Given the description of an element on the screen output the (x, y) to click on. 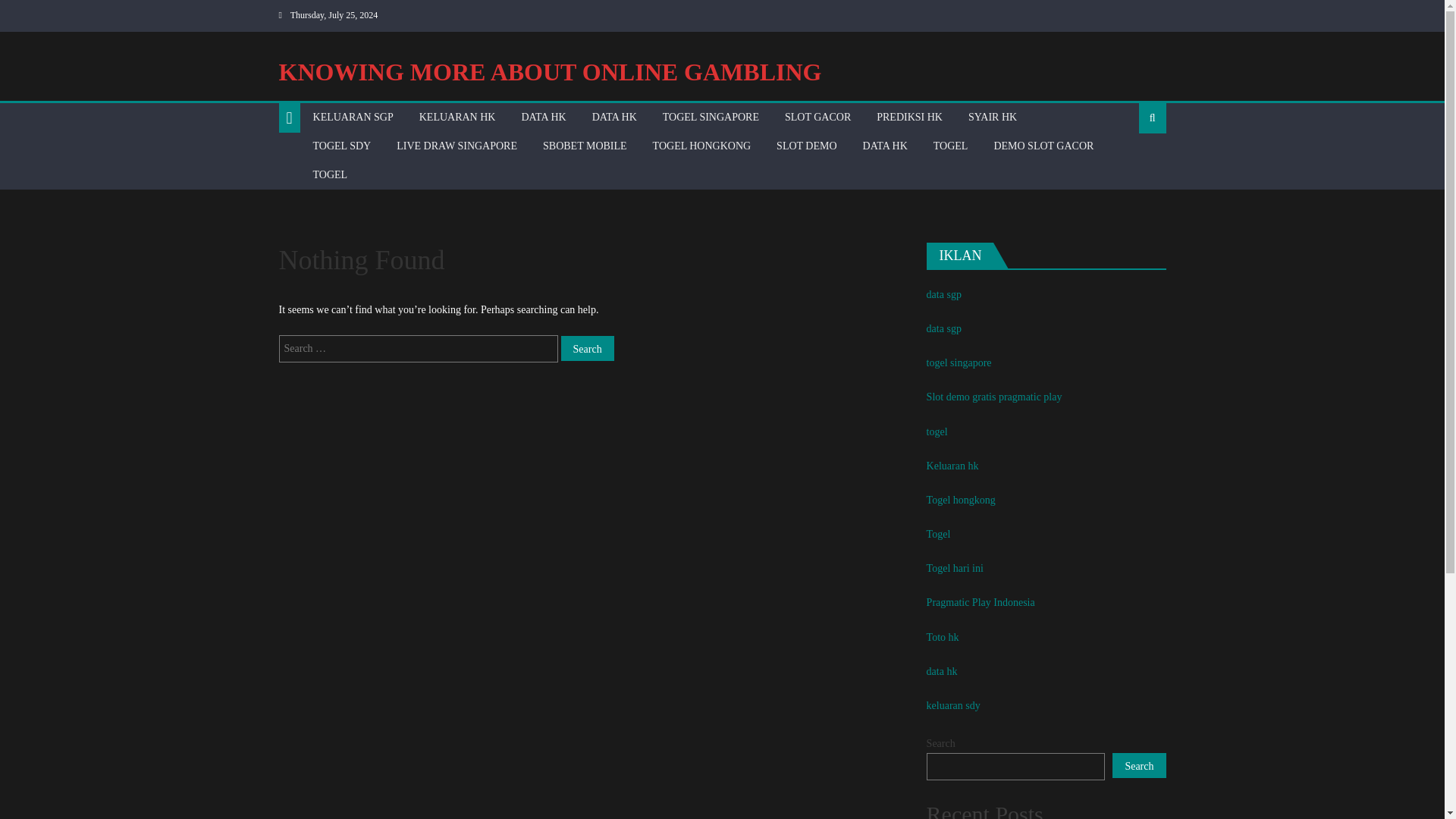
Search (587, 348)
TOGEL (330, 174)
Keluaran hk (952, 465)
data sgp (943, 294)
KELUARAN HK (456, 117)
Slot demo gratis pragmatic play (994, 396)
Togel hari ini (955, 568)
Togel hongkong (960, 500)
LIVE DRAW SINGAPORE (456, 145)
TOGEL HONGKONG (702, 145)
togel (936, 431)
Search (1128, 166)
Search (587, 348)
SLOT DEMO (806, 145)
SLOT GACOR (817, 117)
